Given the description of an element on the screen output the (x, y) to click on. 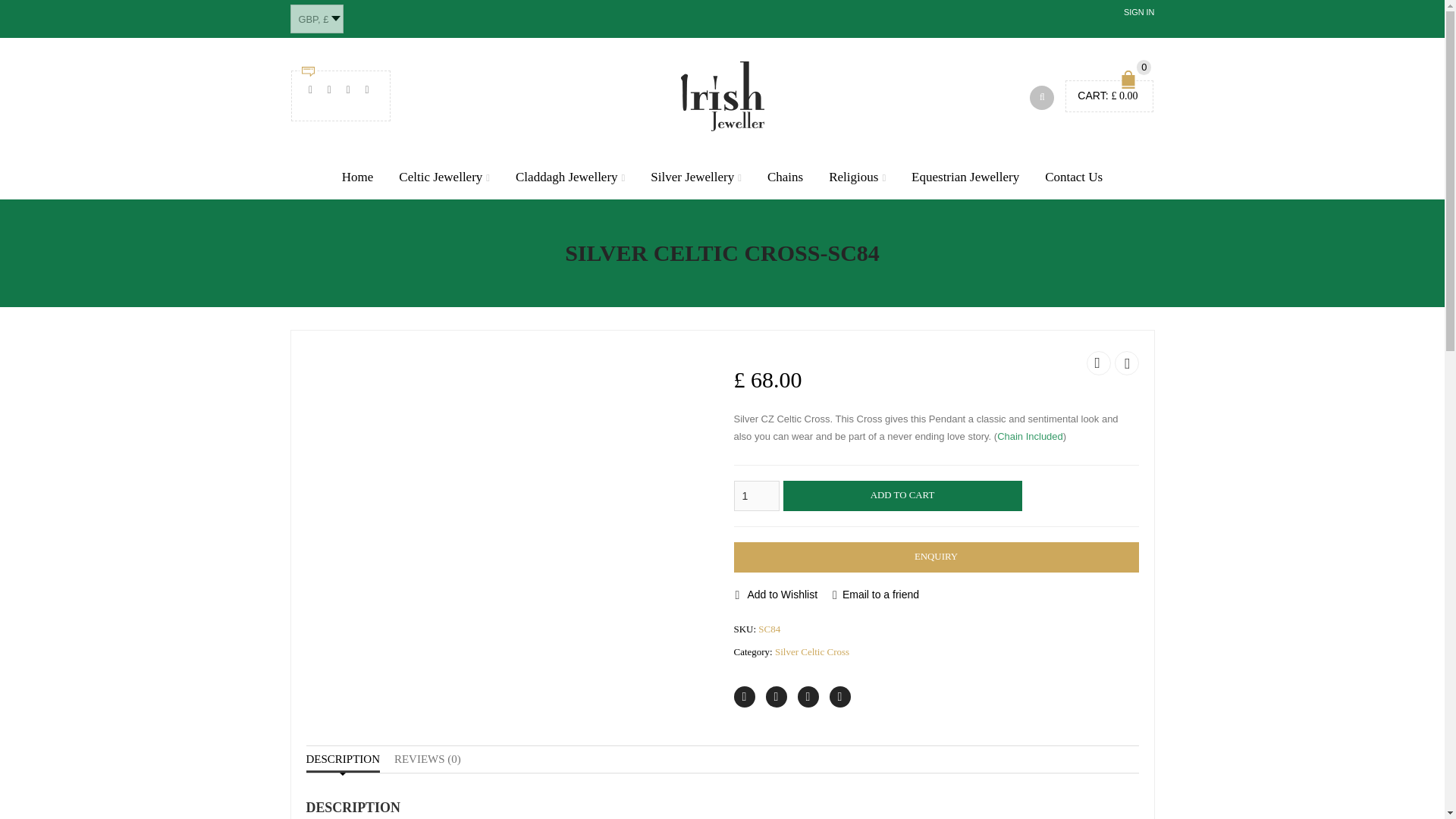
Facebook (776, 696)
Twitter (744, 696)
Mail to friend (839, 696)
Pinterest (807, 696)
Enquiry (935, 557)
1 (755, 495)
